Given the description of an element on the screen output the (x, y) to click on. 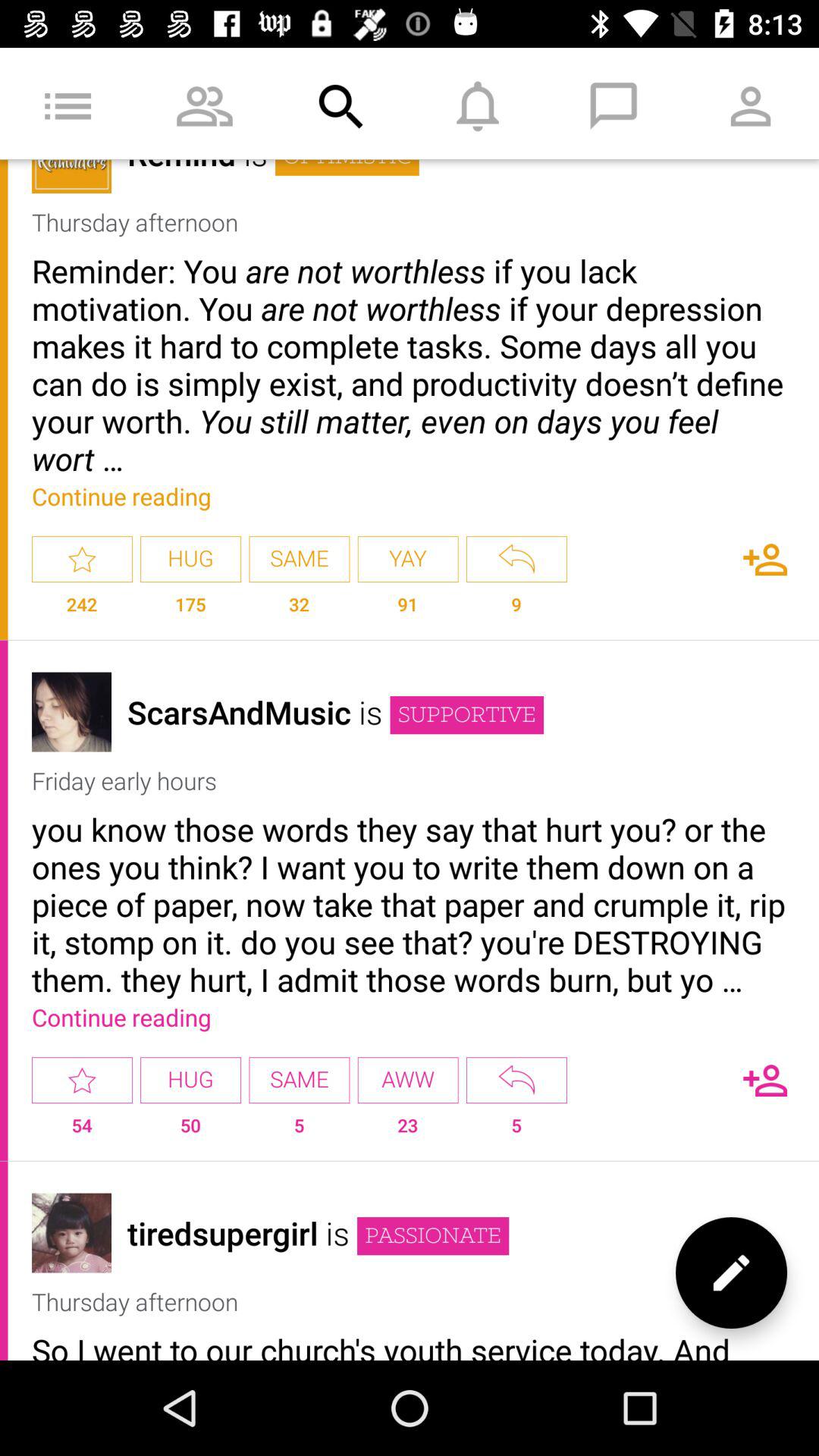
add to favorites (81, 559)
